Given the description of an element on the screen output the (x, y) to click on. 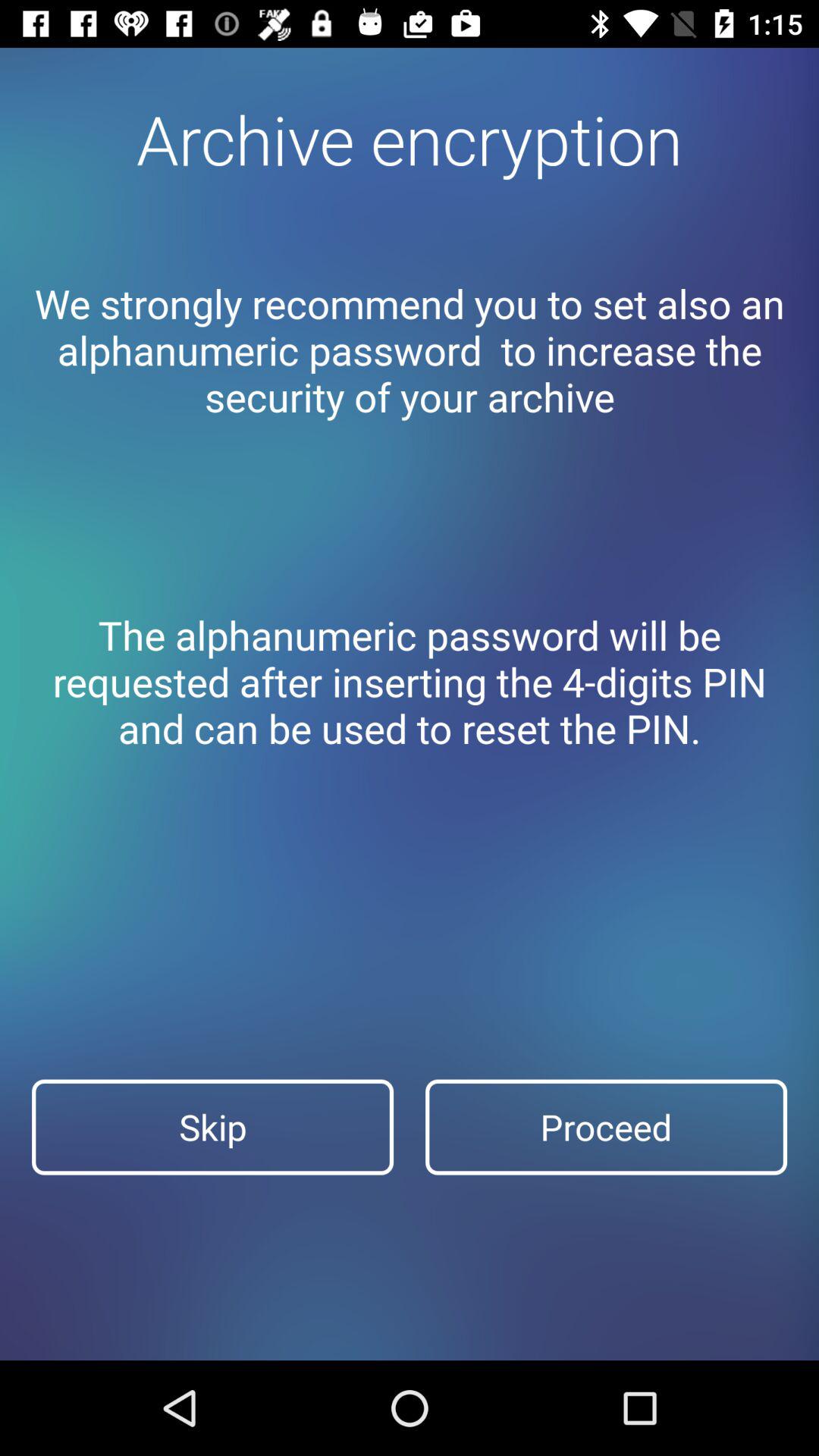
jump to proceed (606, 1127)
